Given the description of an element on the screen output the (x, y) to click on. 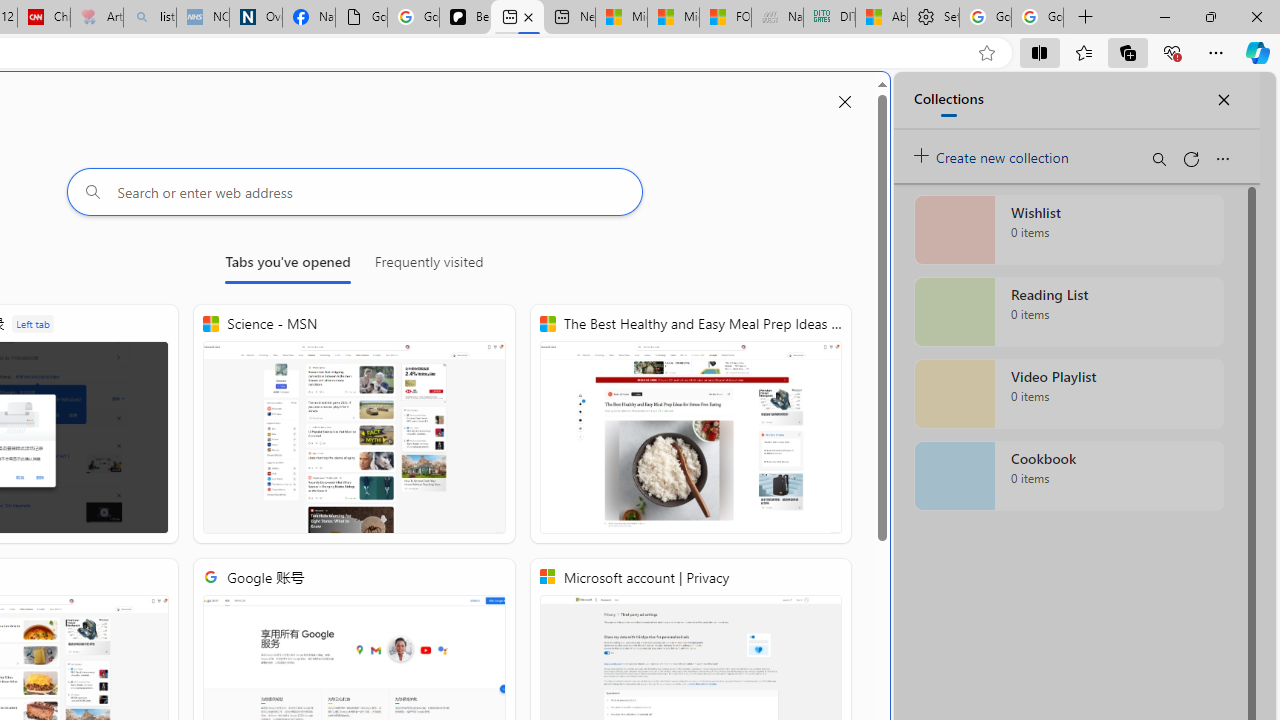
New split screen (516, 17)
